Given the description of an element on the screen output the (x, y) to click on. 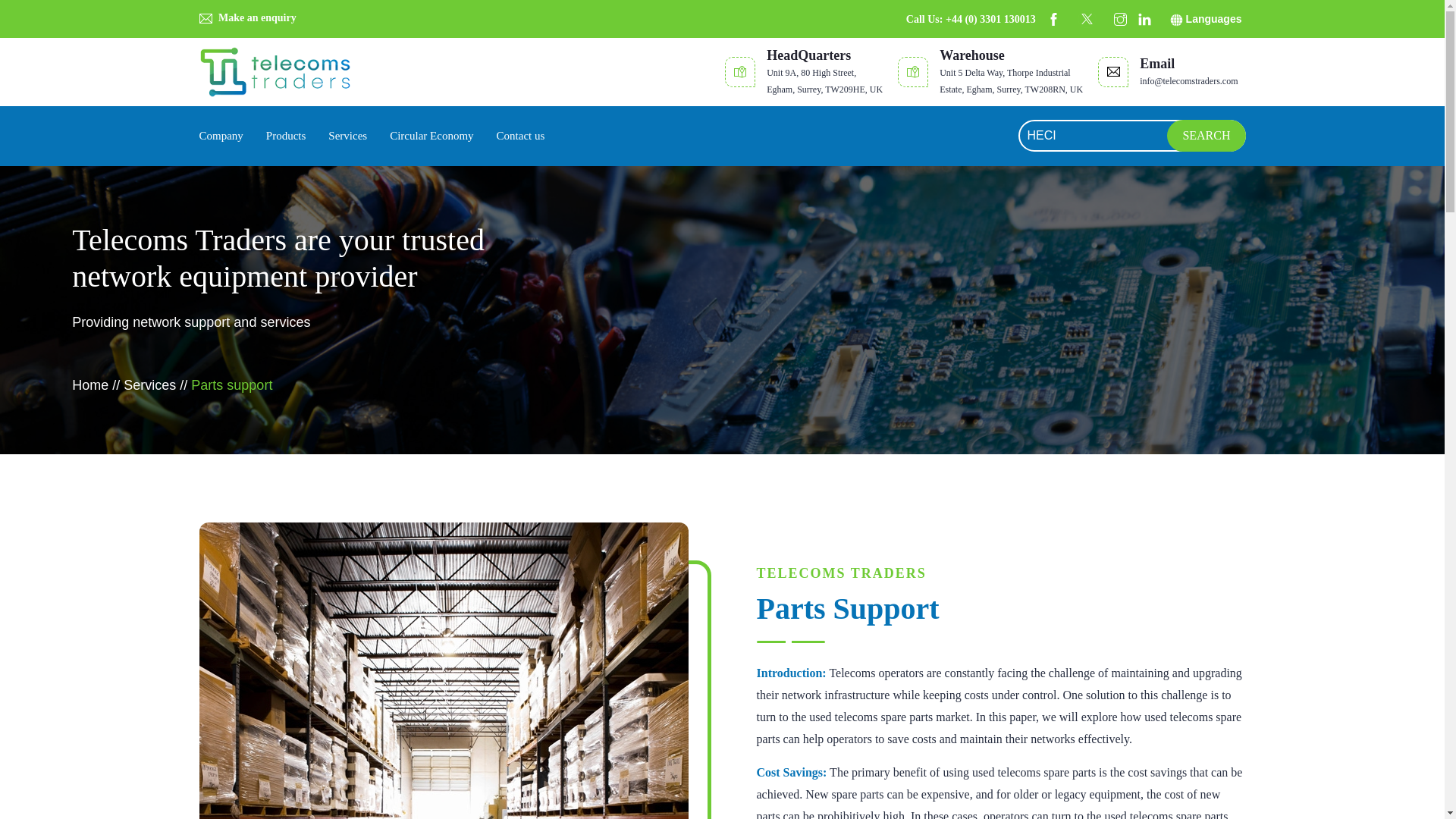
Make an enquiry (246, 17)
Languages (1206, 19)
Company (220, 136)
